Given the description of an element on the screen output the (x, y) to click on. 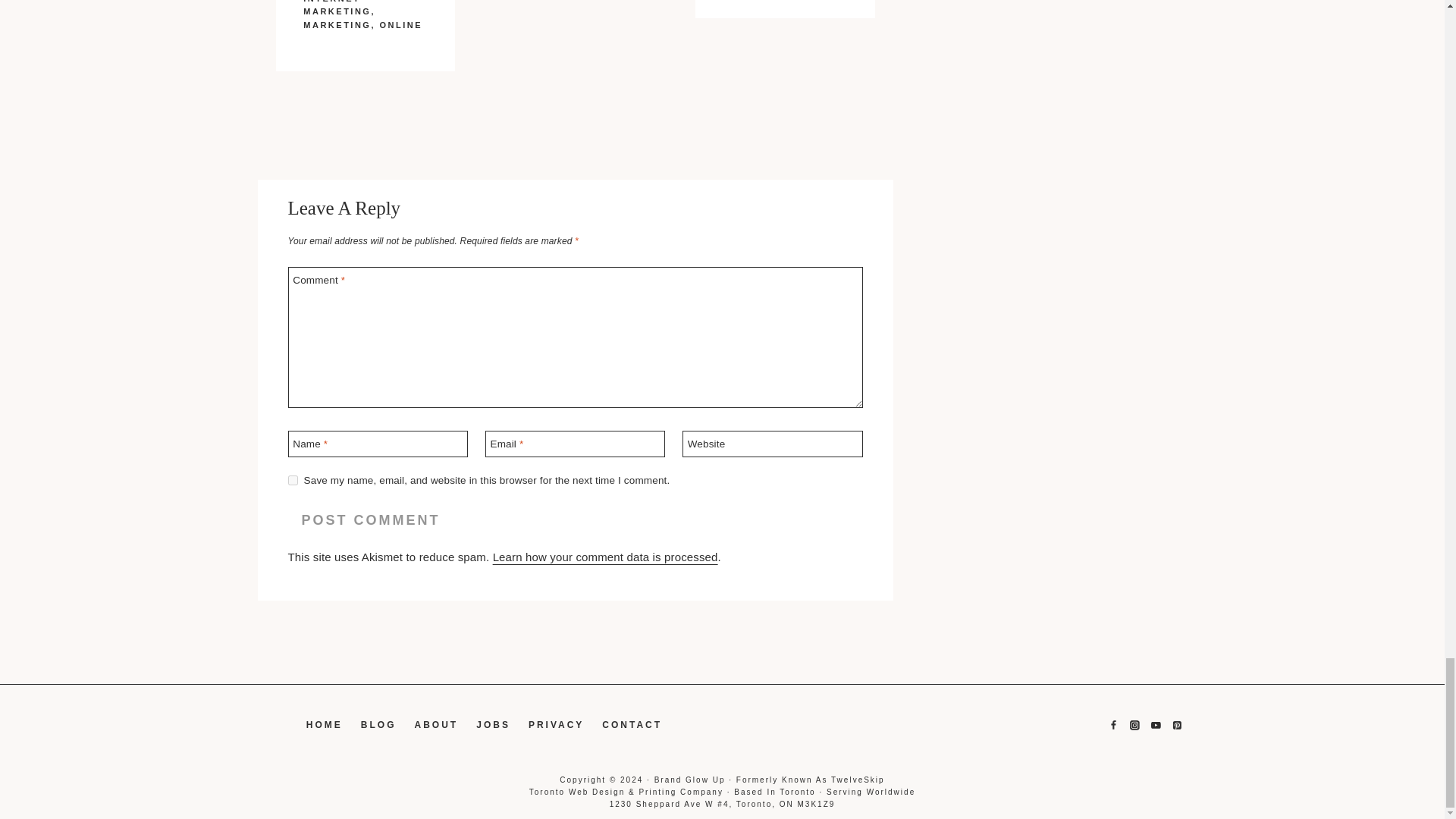
yes (293, 480)
Post Comment (371, 520)
